Given the description of an element on the screen output the (x, y) to click on. 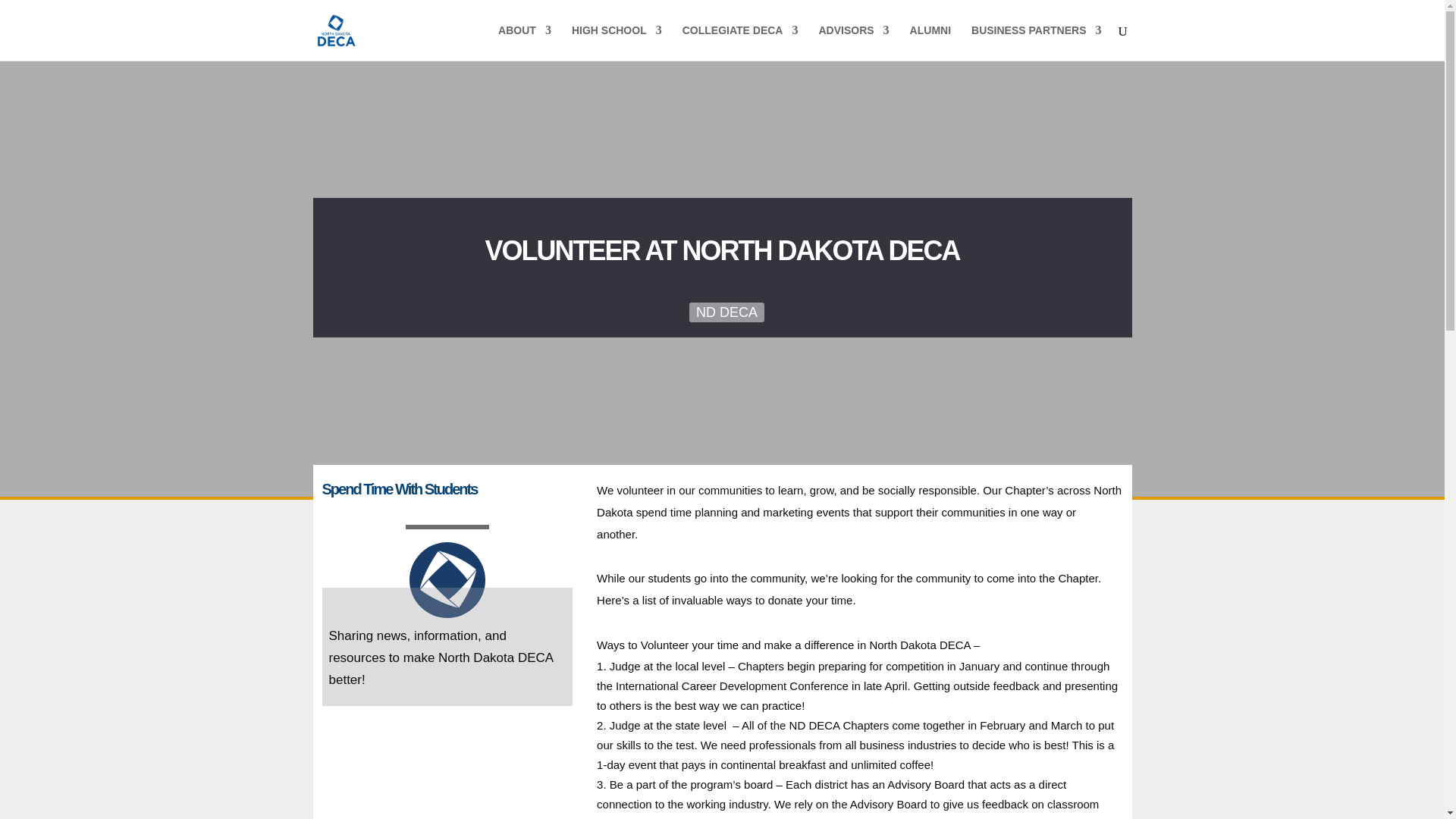
HIGH SCHOOL (617, 42)
BUSINESS PARTNERS (1035, 42)
ABOUT (524, 42)
ALUMNI (930, 42)
COLLEGIATE DECA (739, 42)
ND DECA (726, 312)
ADVISORS (853, 42)
